Given the description of an element on the screen output the (x, y) to click on. 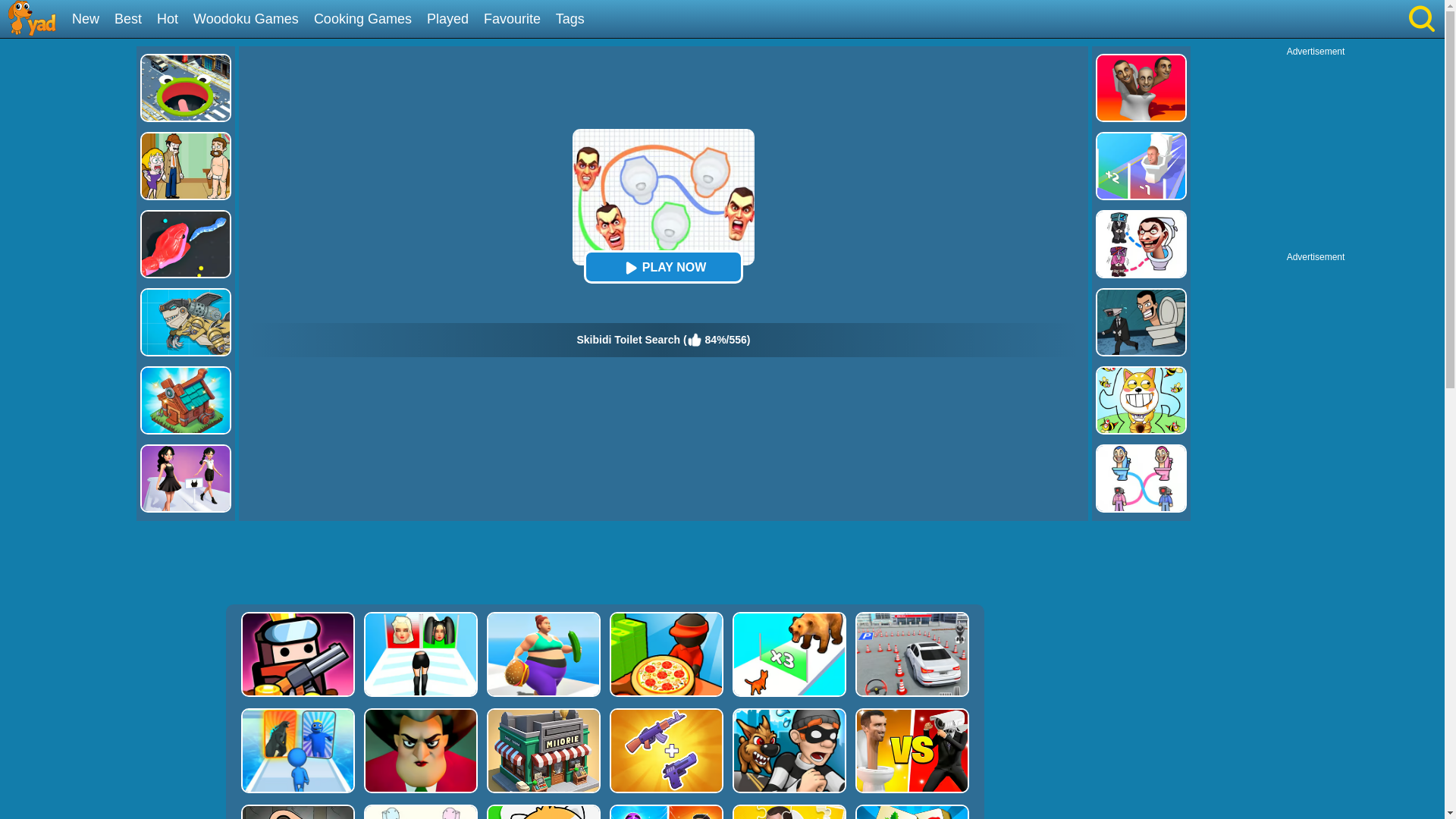
Played (453, 20)
Woodoku Games (251, 20)
Advertisement (603, 562)
Favourite (517, 20)
Hot (173, 20)
Advertisement (1315, 152)
Cooking Games (368, 20)
Best (133, 20)
New (90, 20)
